Given the description of an element on the screen output the (x, y) to click on. 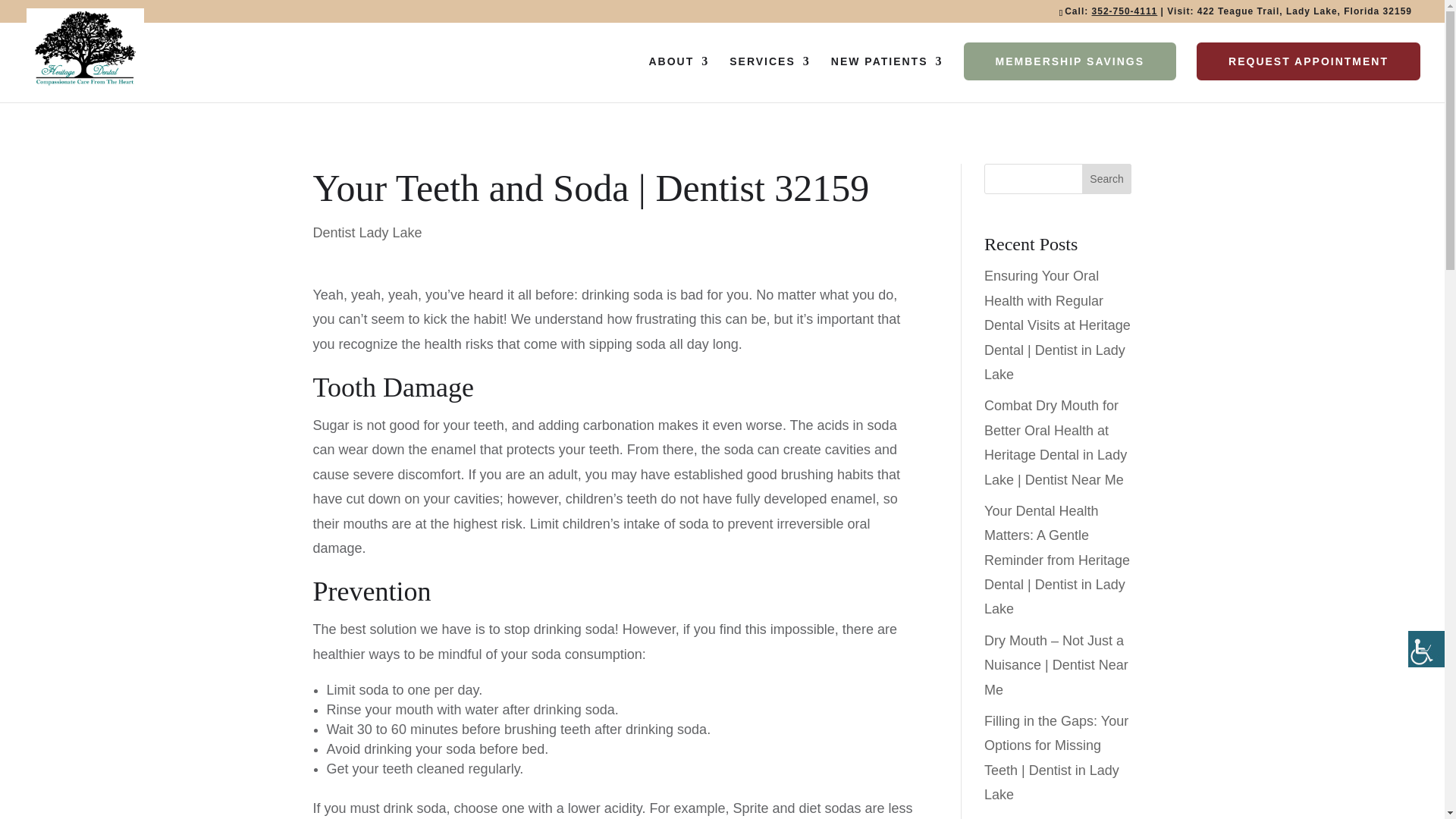
Search (1106, 178)
MEMBERSHIP SAVINGS (1069, 61)
SERVICES (769, 79)
Search (1106, 178)
NEW PATIENTS (887, 79)
REQUEST APPOINTMENT (1308, 61)
352-750-4111 (1124, 10)
ABOUT (678, 79)
